Given the description of an element on the screen output the (x, y) to click on. 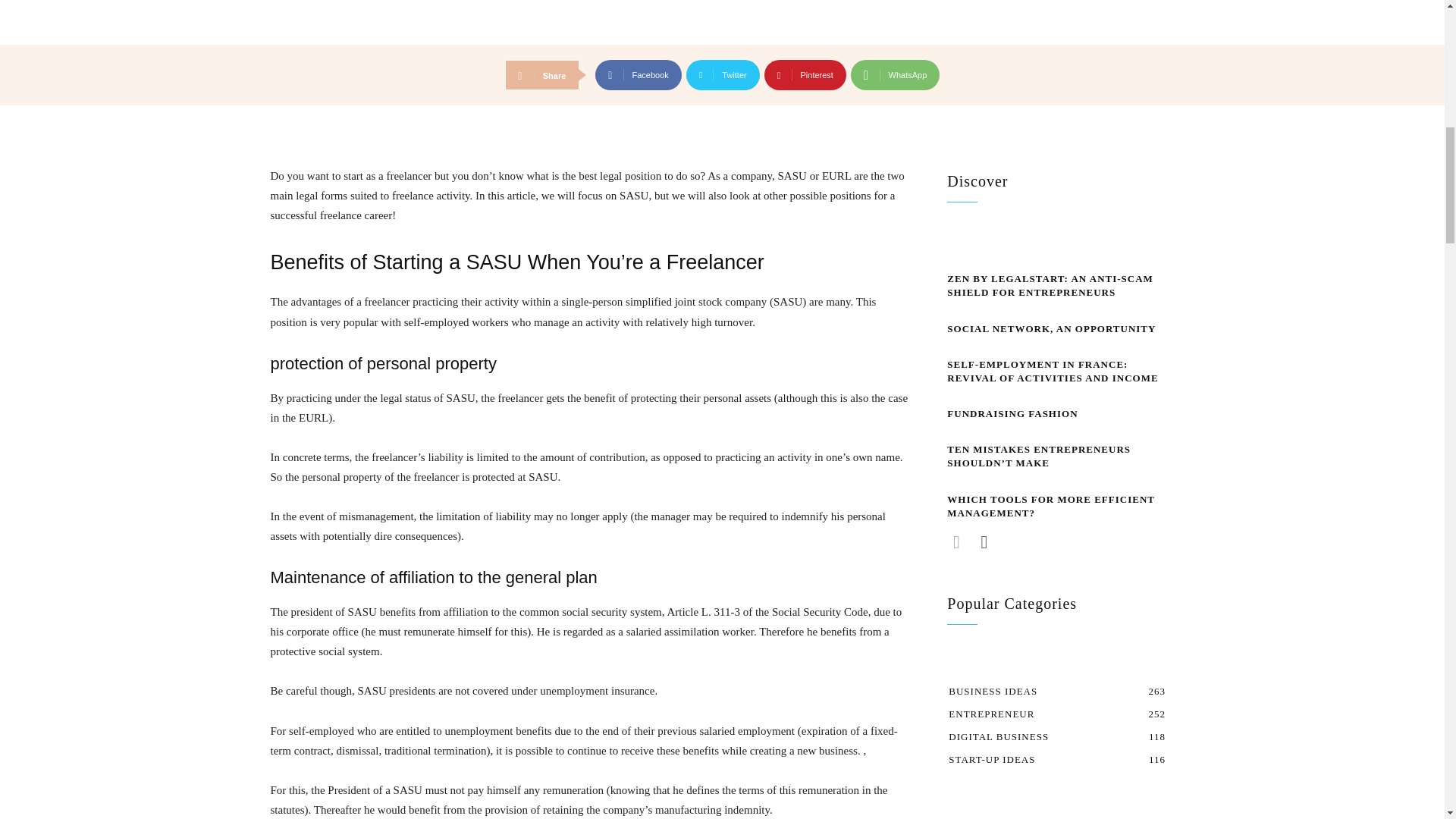
Twitter (722, 74)
WhatsApp (894, 74)
Pinterest (804, 74)
Facebook (638, 74)
